Given the description of an element on the screen output the (x, y) to click on. 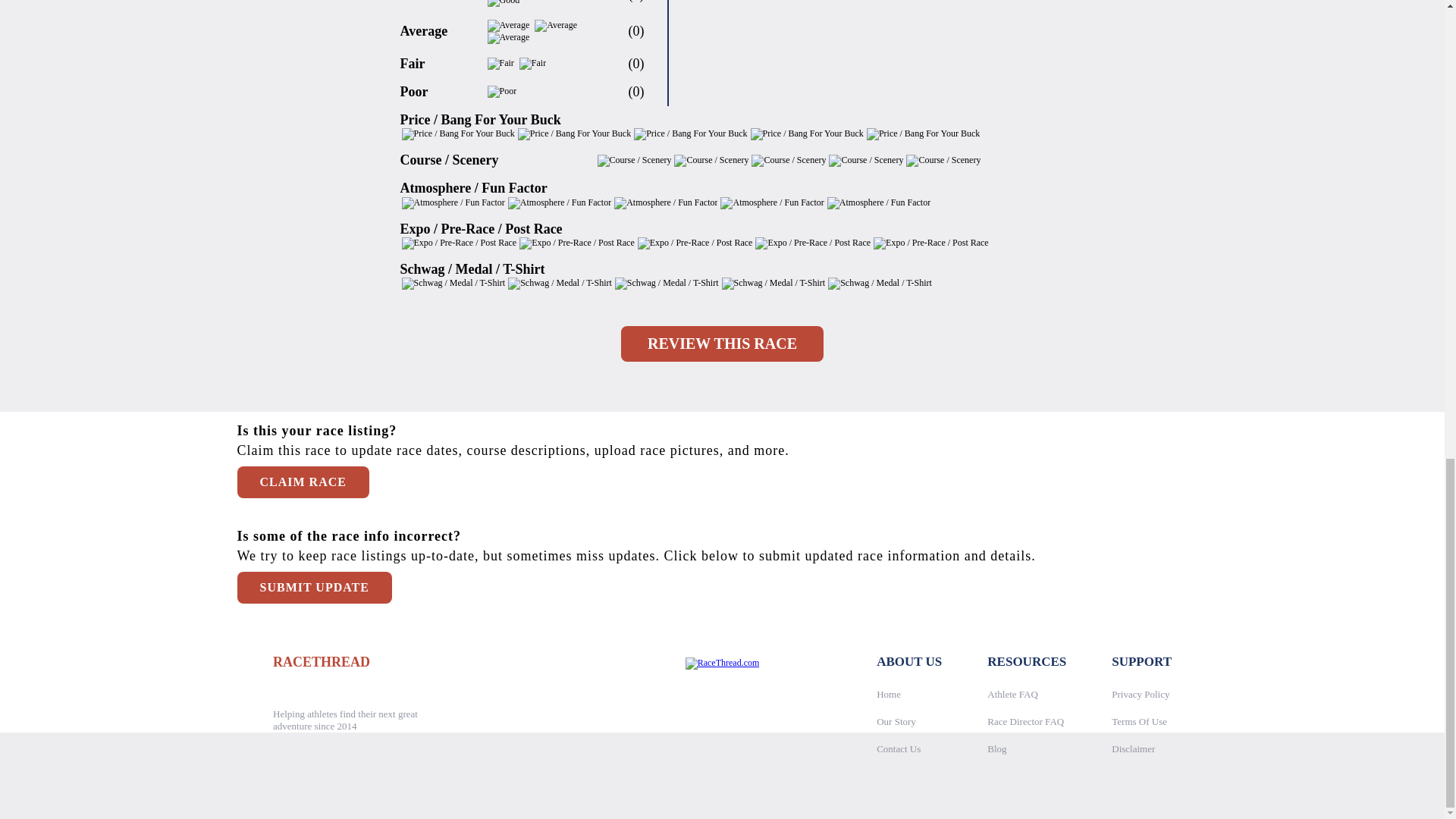
SUBMIT UPDATE (313, 587)
CLAIM RACE (301, 481)
Our Story (895, 720)
Contact Us (898, 747)
Race Director FAQ (1025, 720)
Home (888, 693)
REVIEW THIS RACE (722, 343)
Blog (996, 747)
Athlete FAQ (1012, 693)
